Given the description of an element on the screen output the (x, y) to click on. 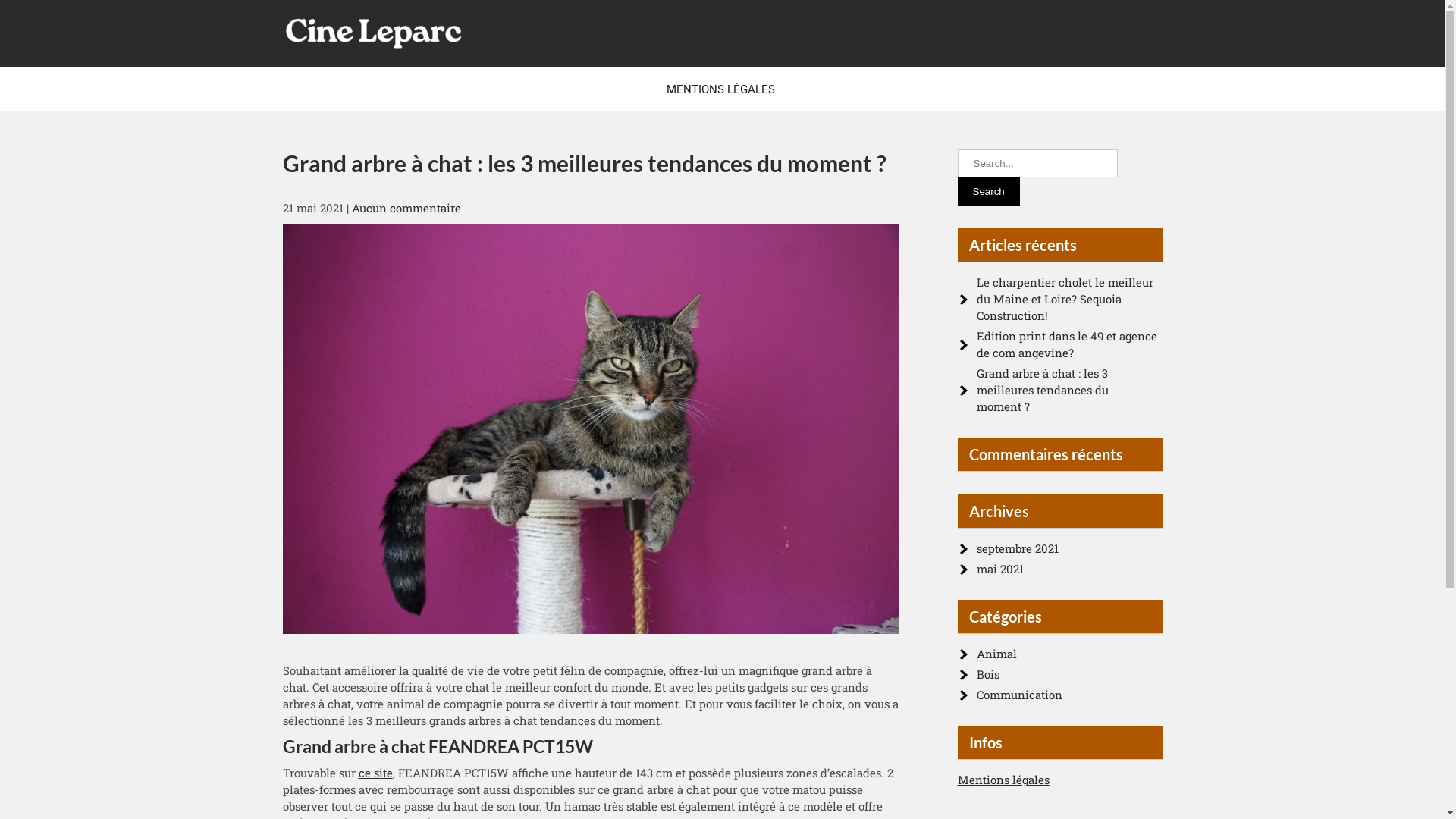
septembre 2021 Element type: text (1017, 547)
Cineleparc Element type: text (345, 68)
mai 2021 Element type: text (999, 568)
Search Element type: text (988, 191)
Aucun commentaire Element type: text (406, 207)
Animal Element type: text (996, 653)
ce site Element type: text (374, 772)
Edition print dans le 49 et agence de com angevine? Element type: text (1066, 344)
Communication Element type: text (1019, 694)
Bois Element type: text (987, 673)
